Given the description of an element on the screen output the (x, y) to click on. 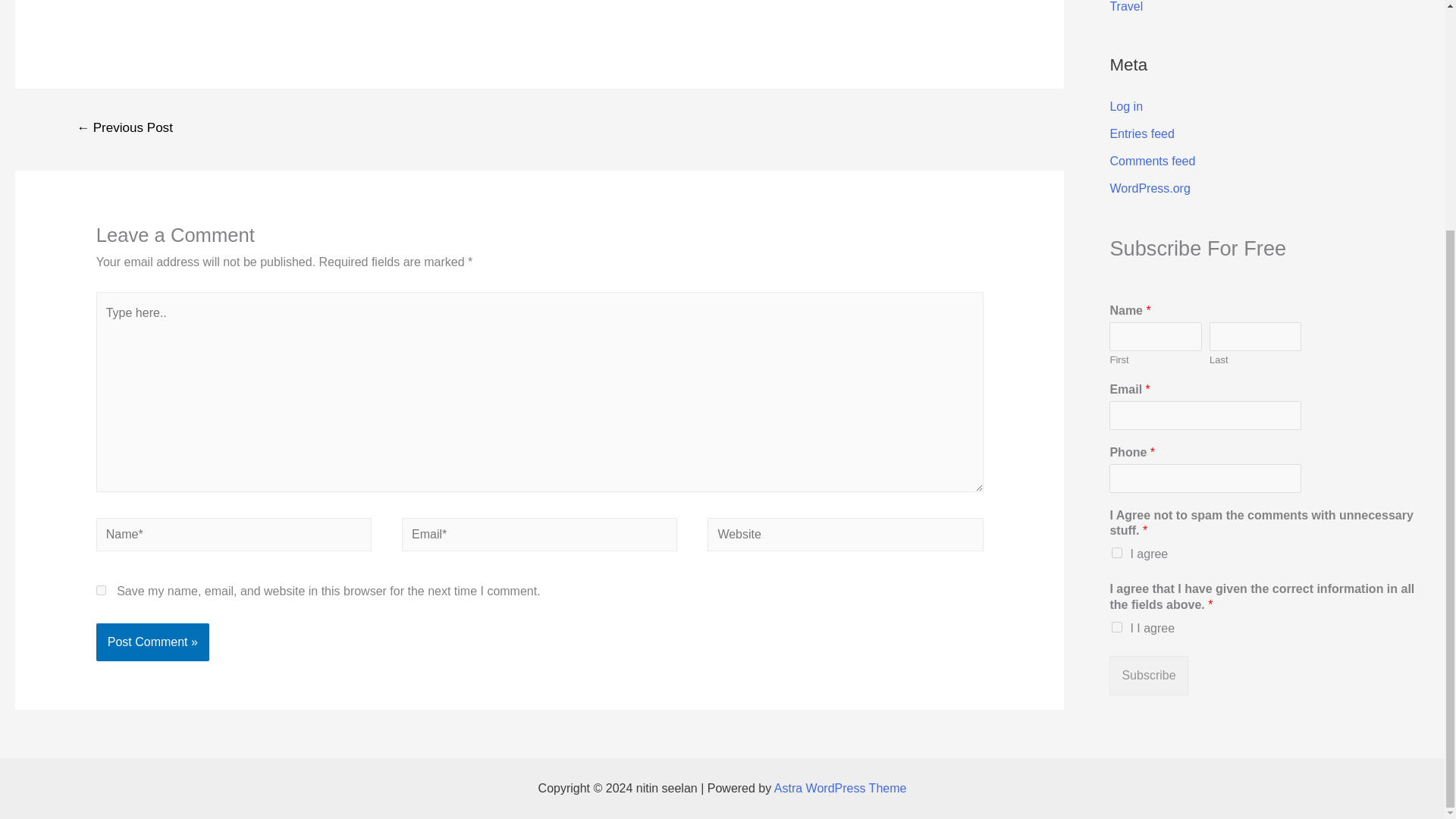
Log in (1125, 106)
yes (101, 590)
Entries feed (1141, 133)
I I agree (1117, 626)
Travel (1125, 6)
Comments feed (1152, 160)
WordPress.org (1149, 187)
I agree (1117, 552)
